Given the description of an element on the screen output the (x, y) to click on. 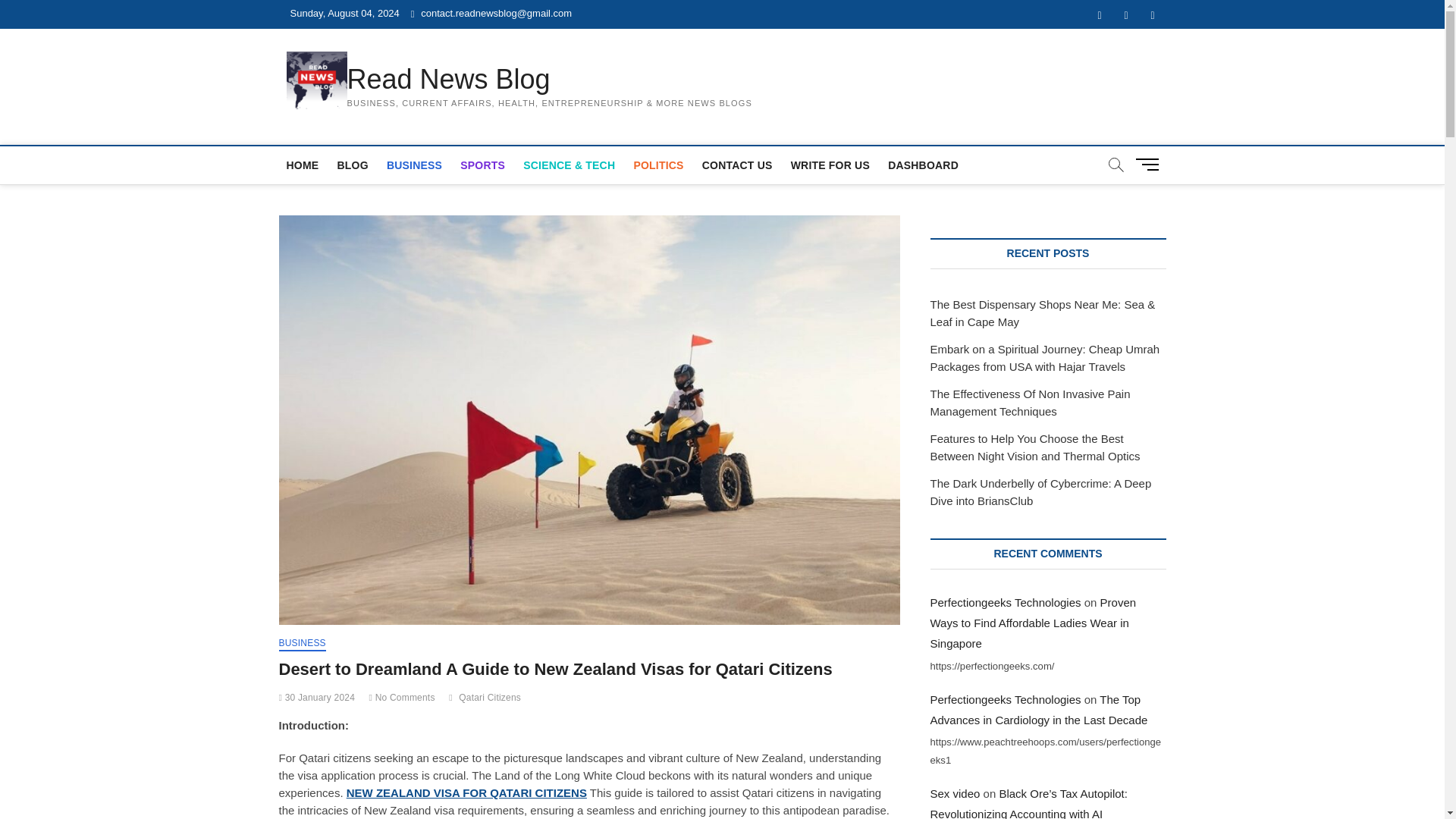
WRITE FOR US (830, 165)
SPORTS (482, 165)
HOME (302, 165)
Twitter (1126, 15)
CONTACT US (737, 165)
Read News Blog (549, 79)
BUSINESS (413, 165)
POLITICS (658, 165)
Mail Us (491, 12)
DASHBOARD (923, 165)
BLOG (352, 165)
Read News Blog (549, 79)
Instagram (1152, 15)
Menu Button (1150, 164)
Facebook (1099, 15)
